Given the description of an element on the screen output the (x, y) to click on. 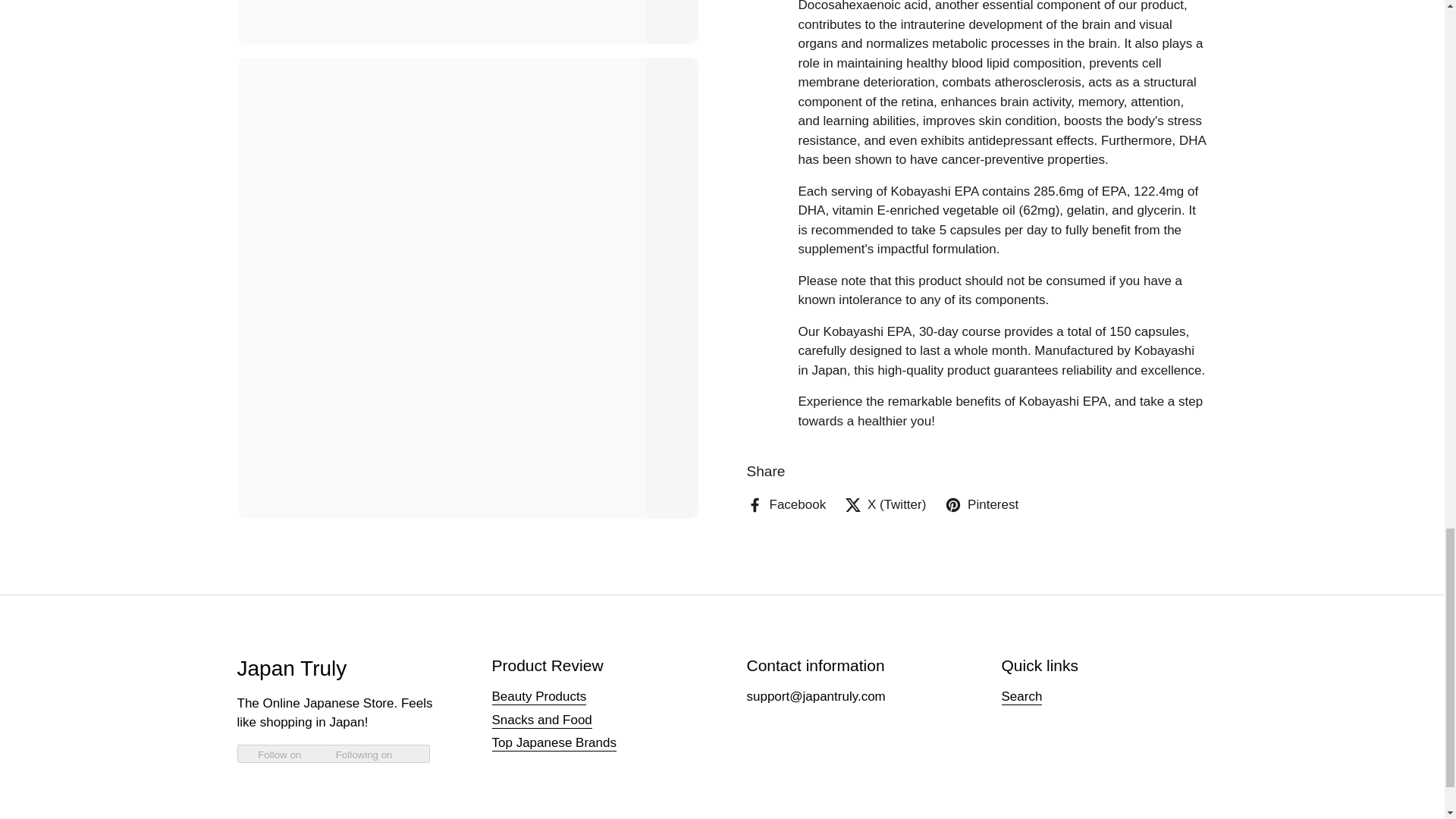
Share on pinterest (980, 142)
Share on facebook (785, 142)
Snacks and Food (541, 720)
Facebook (785, 142)
Beauty Products (539, 697)
Share on X (885, 142)
Pinterest (980, 142)
